Given the description of an element on the screen output the (x, y) to click on. 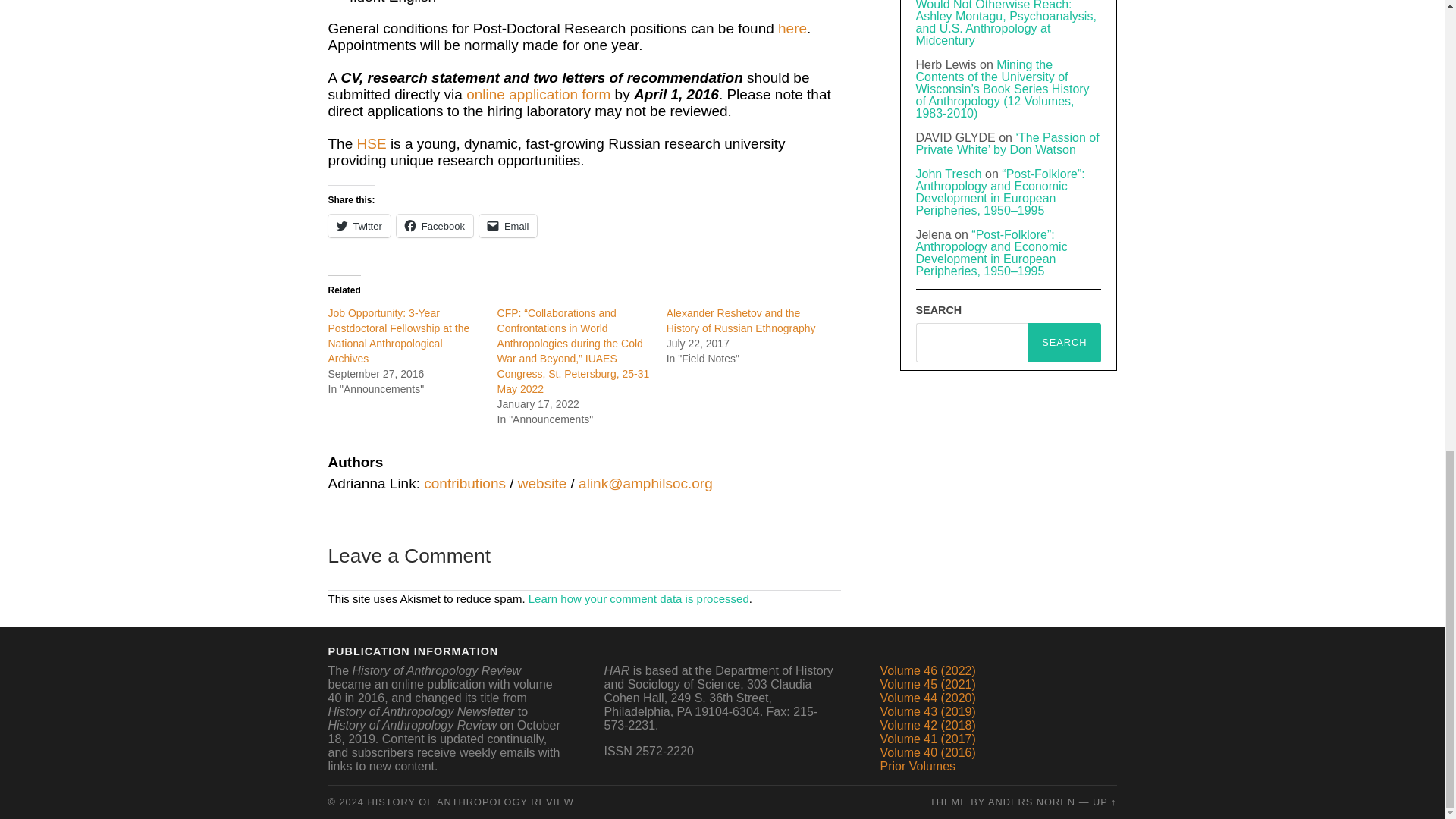
Alexander Reshetov and the History of Russian Ethnography (740, 320)
Search (1063, 342)
Click to share on Facebook (434, 225)
Click to email a link to a friend (508, 225)
Click to share on Twitter (358, 225)
